Given the description of an element on the screen output the (x, y) to click on. 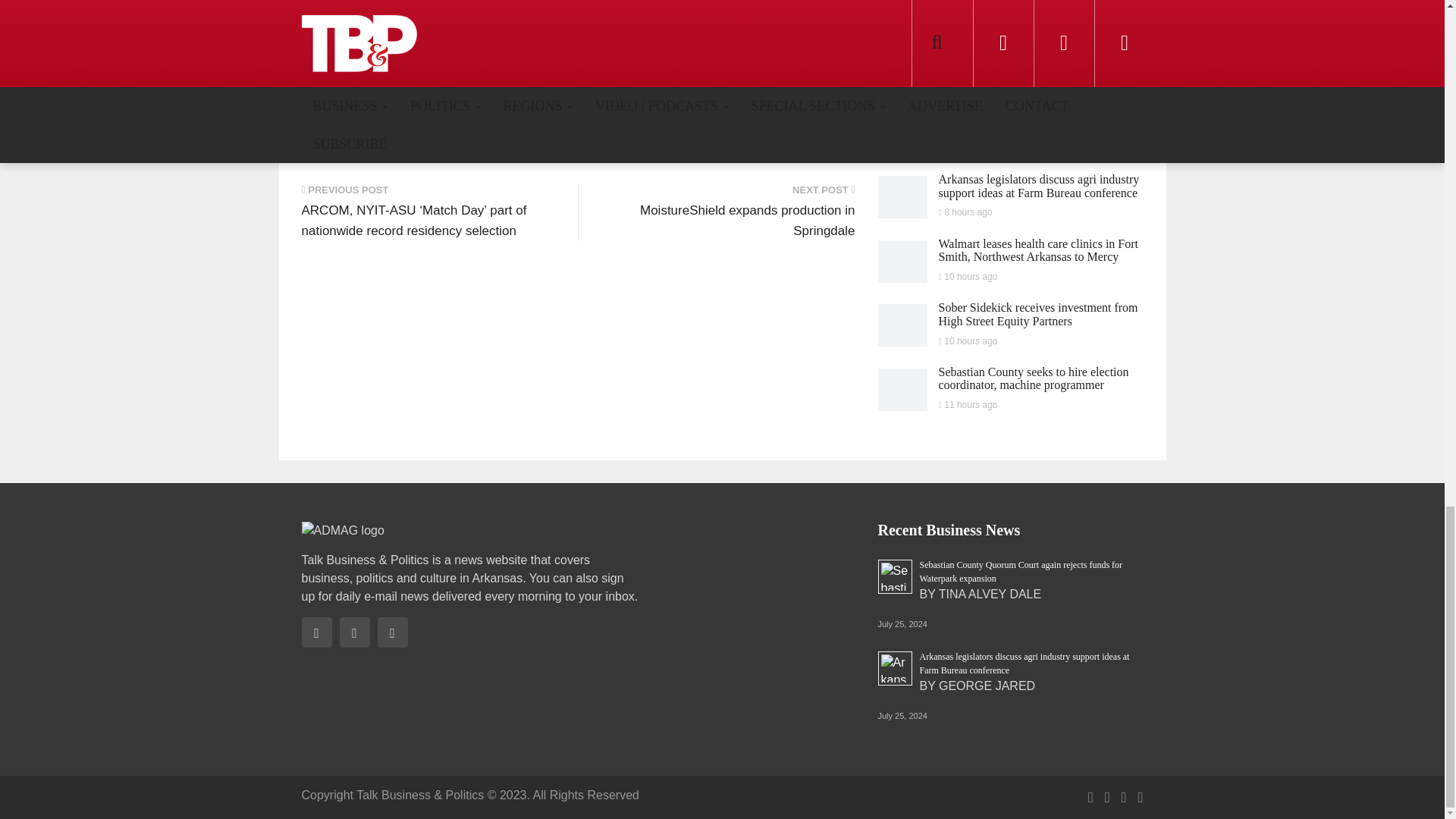
Click to share on LinkedIn (464, 135)
Click to print (609, 135)
Click to share on X (404, 135)
Click to share on Threads (541, 135)
Click to share on Facebook (339, 135)
